Given the description of an element on the screen output the (x, y) to click on. 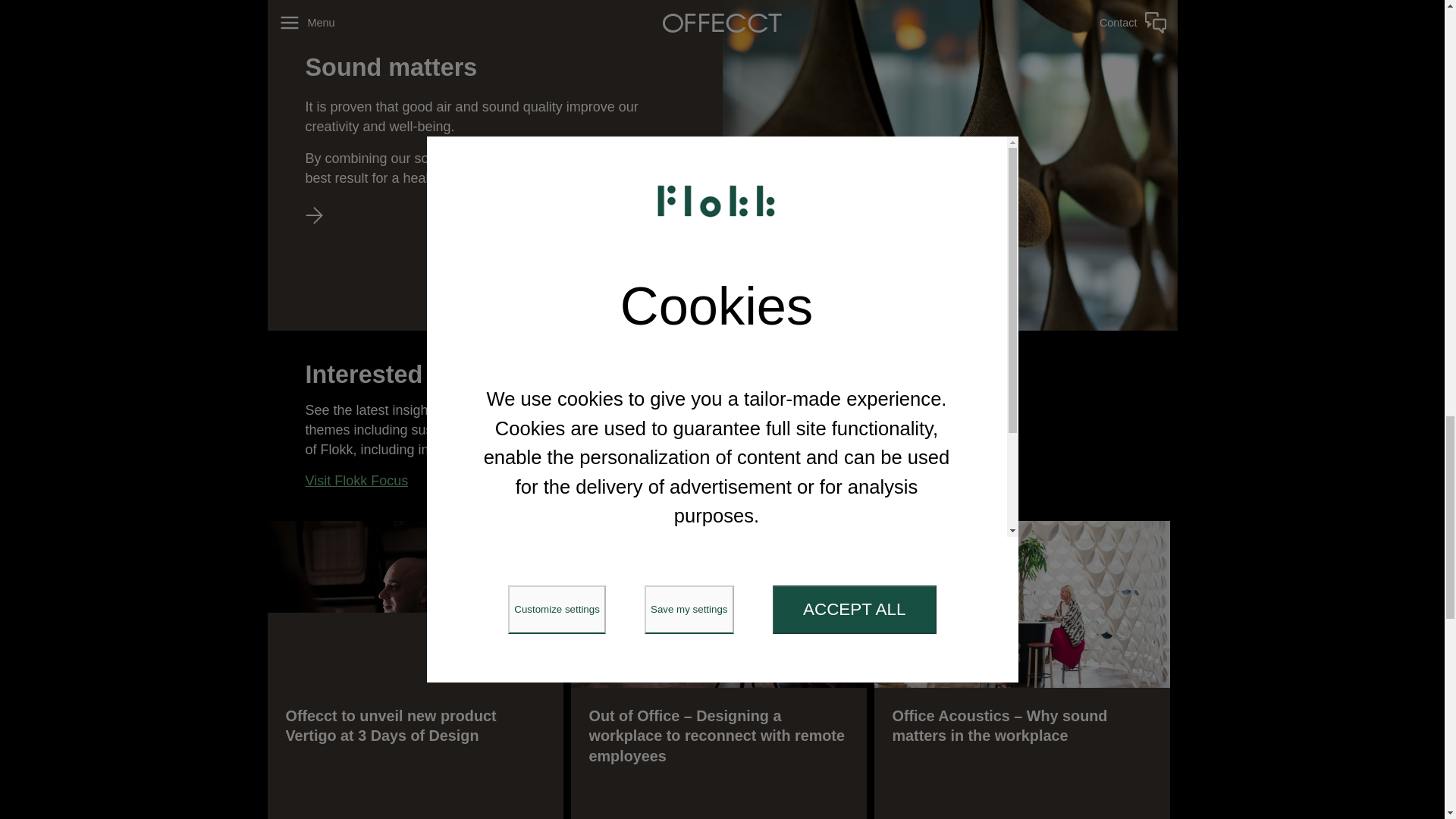
See what we can offer (313, 219)
Visit Flokk Focus (355, 480)
